Given the description of an element on the screen output the (x, y) to click on. 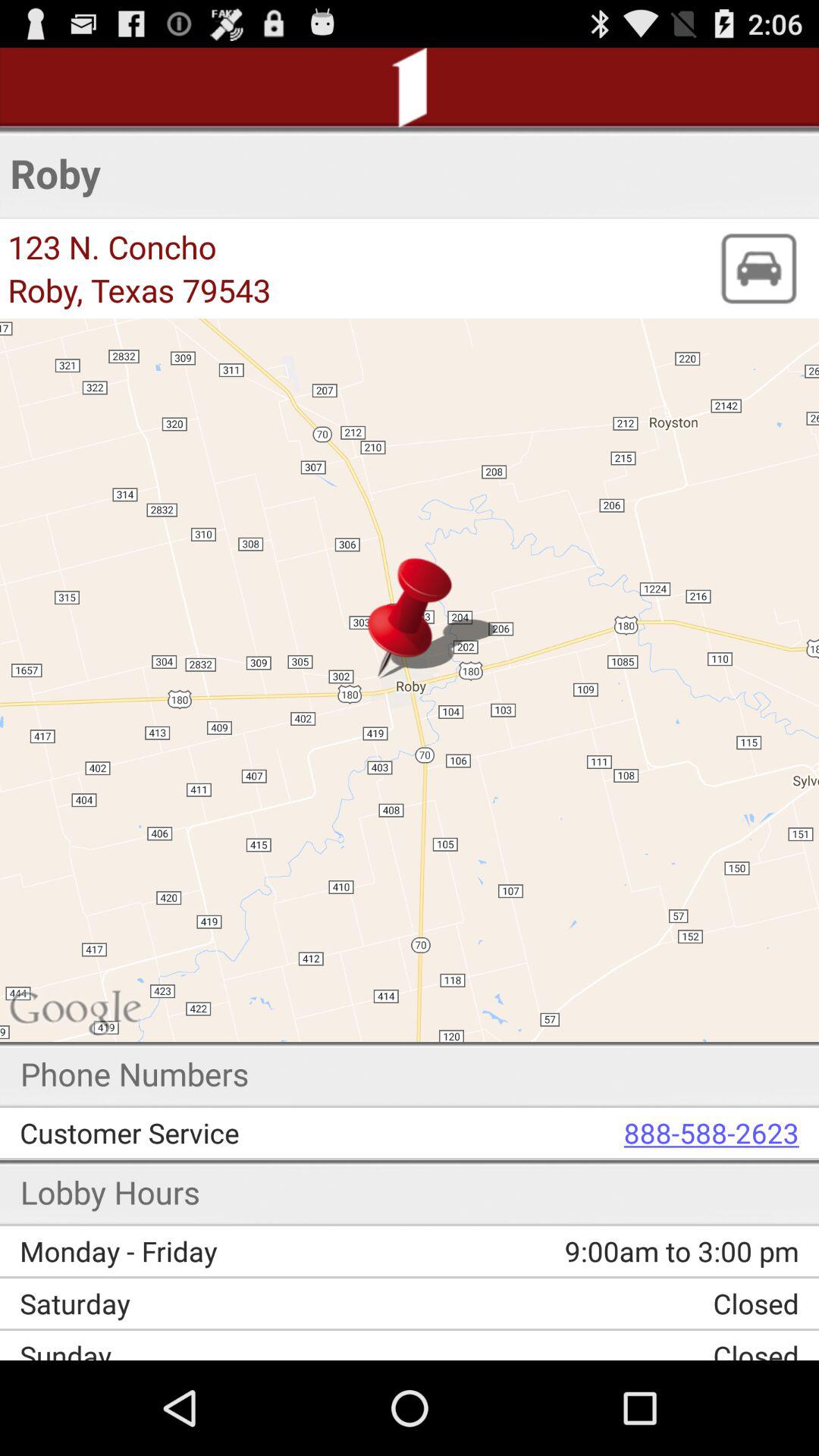
launch the icon at the top right corner (757, 268)
